Given the description of an element on the screen output the (x, y) to click on. 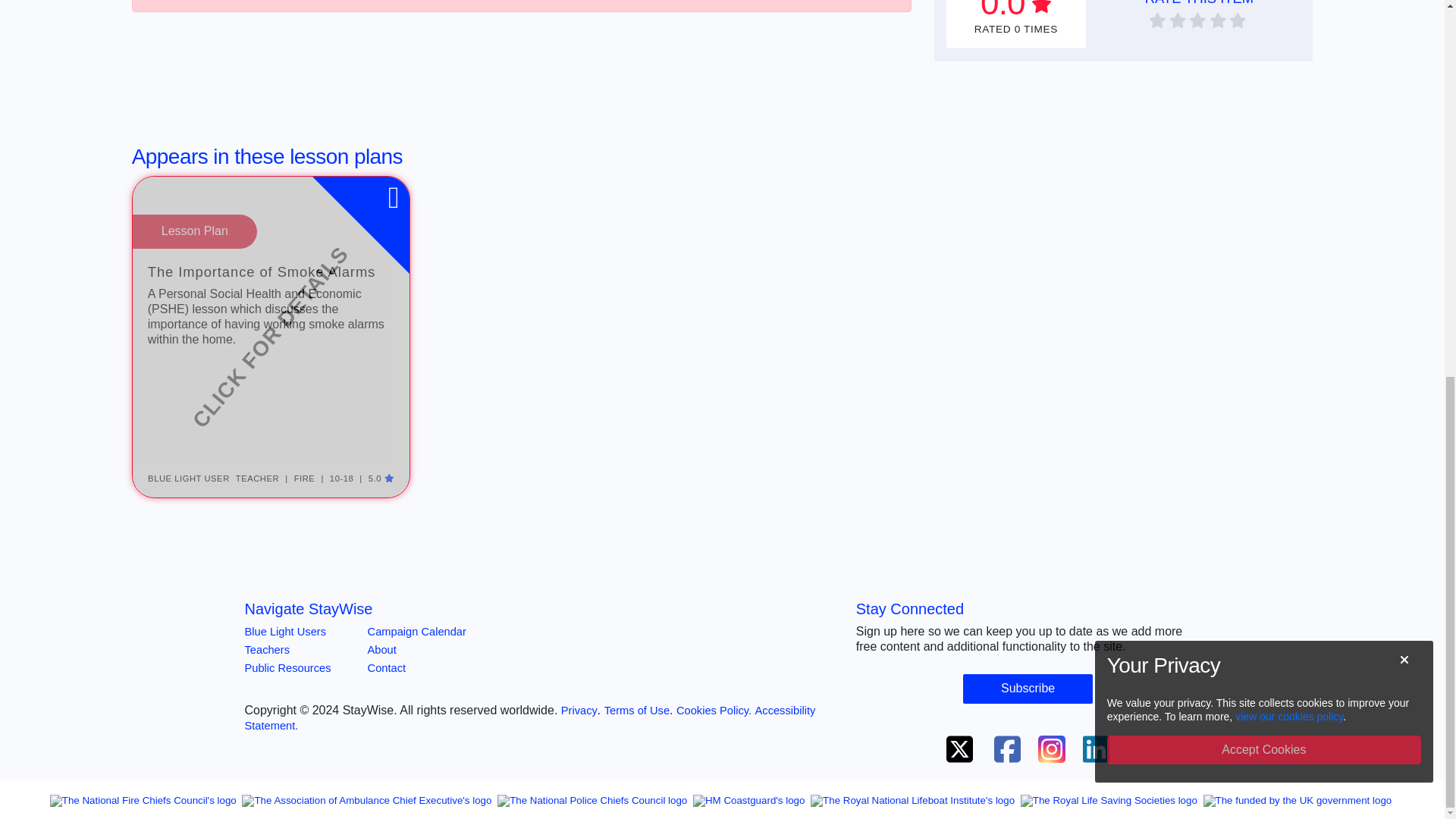
Accessibility Statement. (529, 691)
Terms of Use (636, 684)
Accept Cookies (1263, 6)
Public Resources (287, 642)
Teachers (266, 623)
About (382, 623)
Privacy (578, 684)
Blue Light Users (285, 605)
Subscribe (1027, 663)
Contact (387, 642)
Campaign Calendar (416, 605)
Cookies Policy. (714, 684)
